Given the description of an element on the screen output the (x, y) to click on. 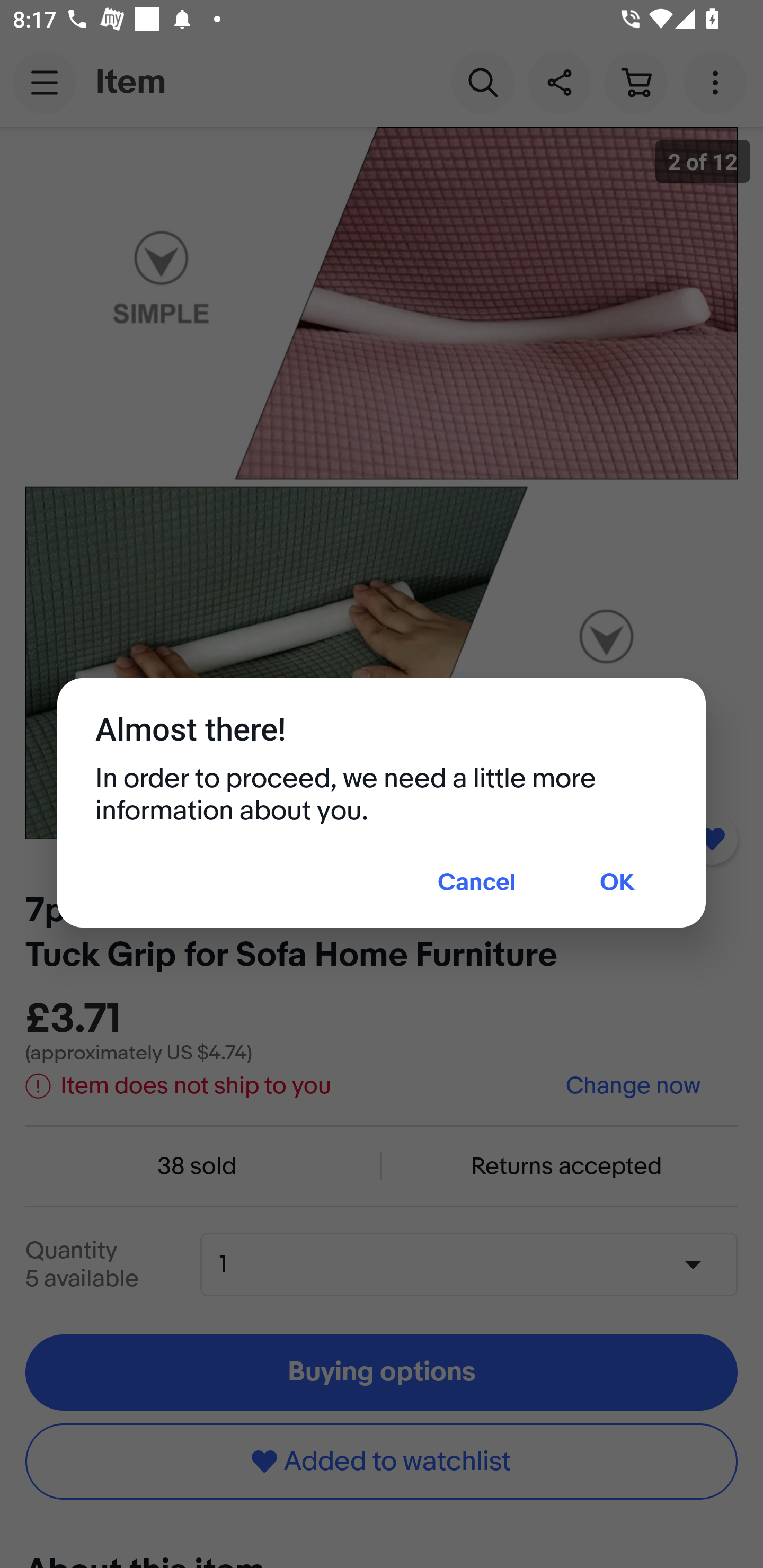
Cancel (476, 883)
OK (616, 883)
